Given the description of an element on the screen output the (x, y) to click on. 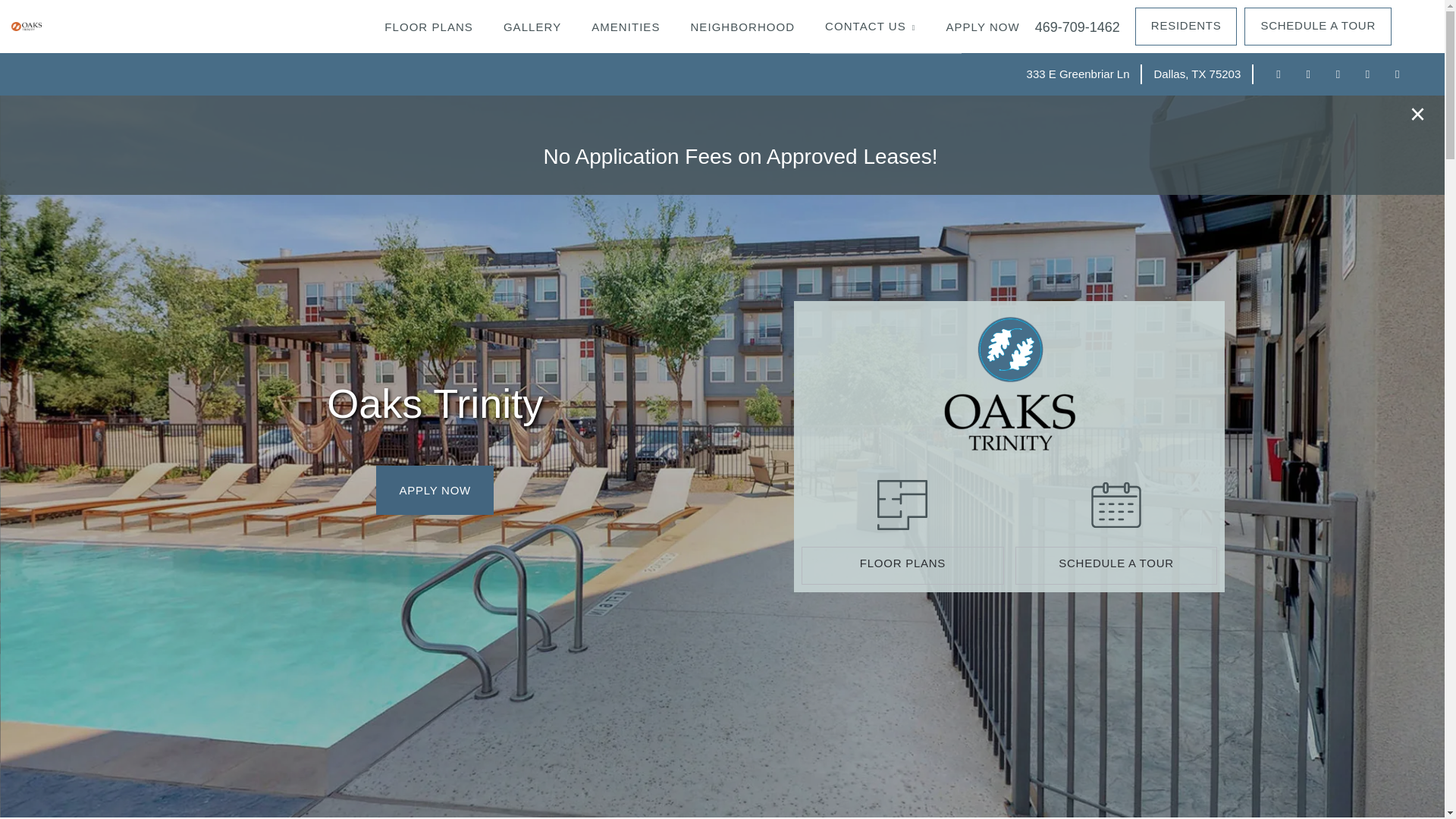
Facebook (1278, 74)
APPLY NOW (434, 490)
FAQ (884, 28)
469-709-1462 (1077, 26)
FLOOR PLANS (903, 565)
CONTACT US (869, 26)
Property Phone Number (1077, 26)
NEIGHBORHOOD (742, 26)
Google My Business (1307, 74)
SCHEDULE A TOUR (1115, 565)
